Given the description of an element on the screen output the (x, y) to click on. 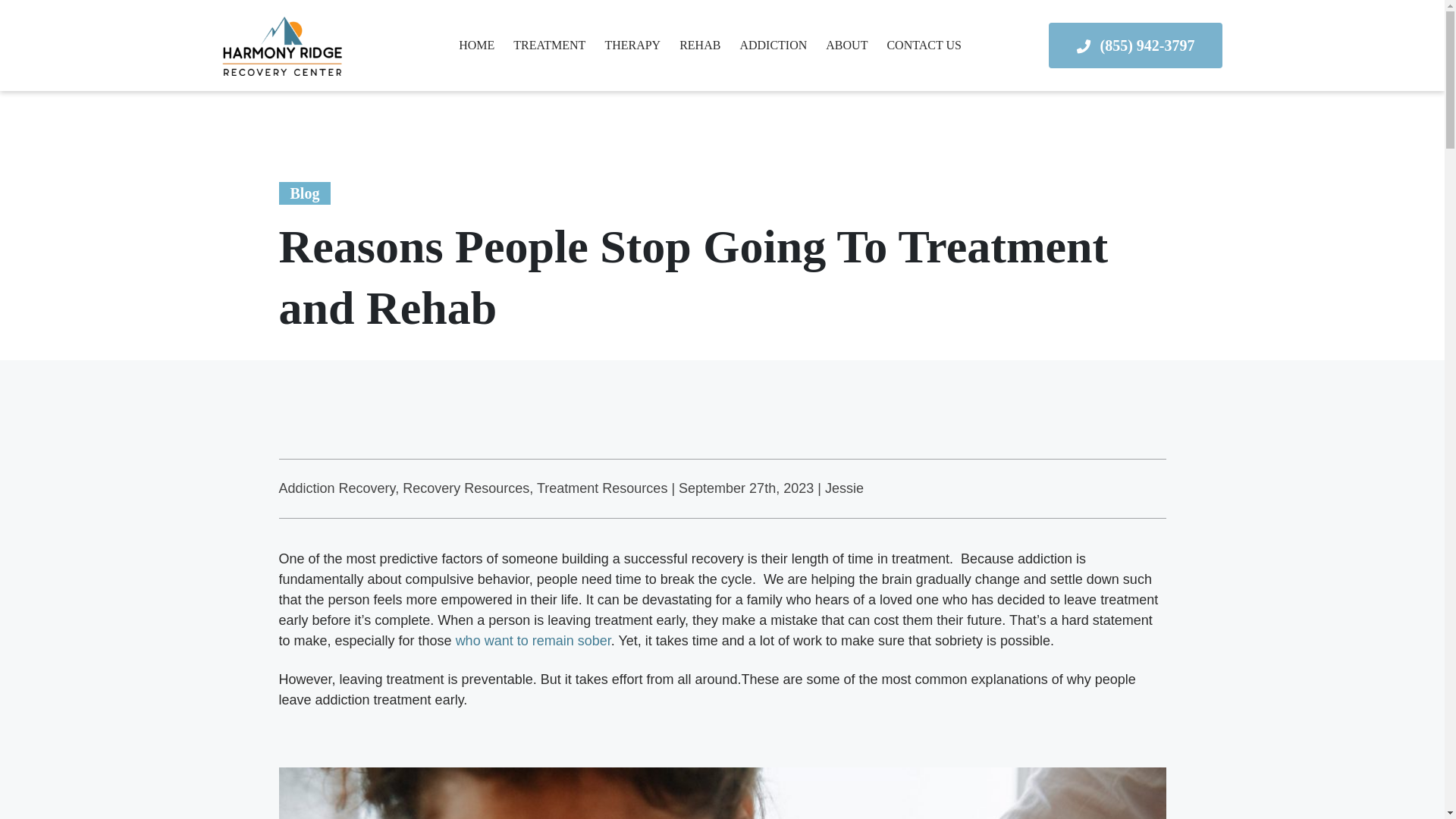
HOME (476, 45)
TREATMENT (549, 45)
THERAPY (632, 45)
